Given the description of an element on the screen output the (x, y) to click on. 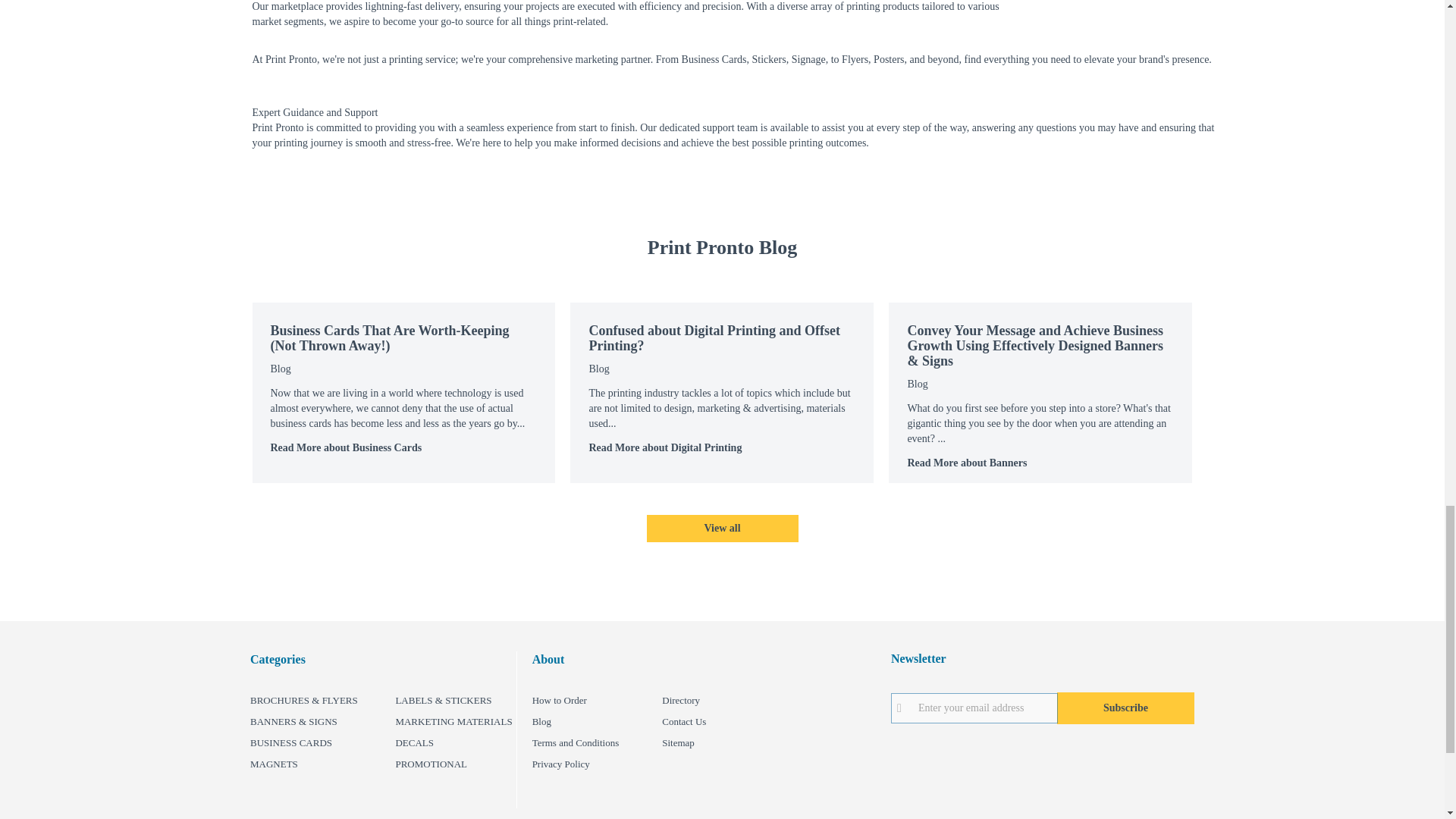
Subscribe (1125, 707)
